Given the description of an element on the screen output the (x, y) to click on. 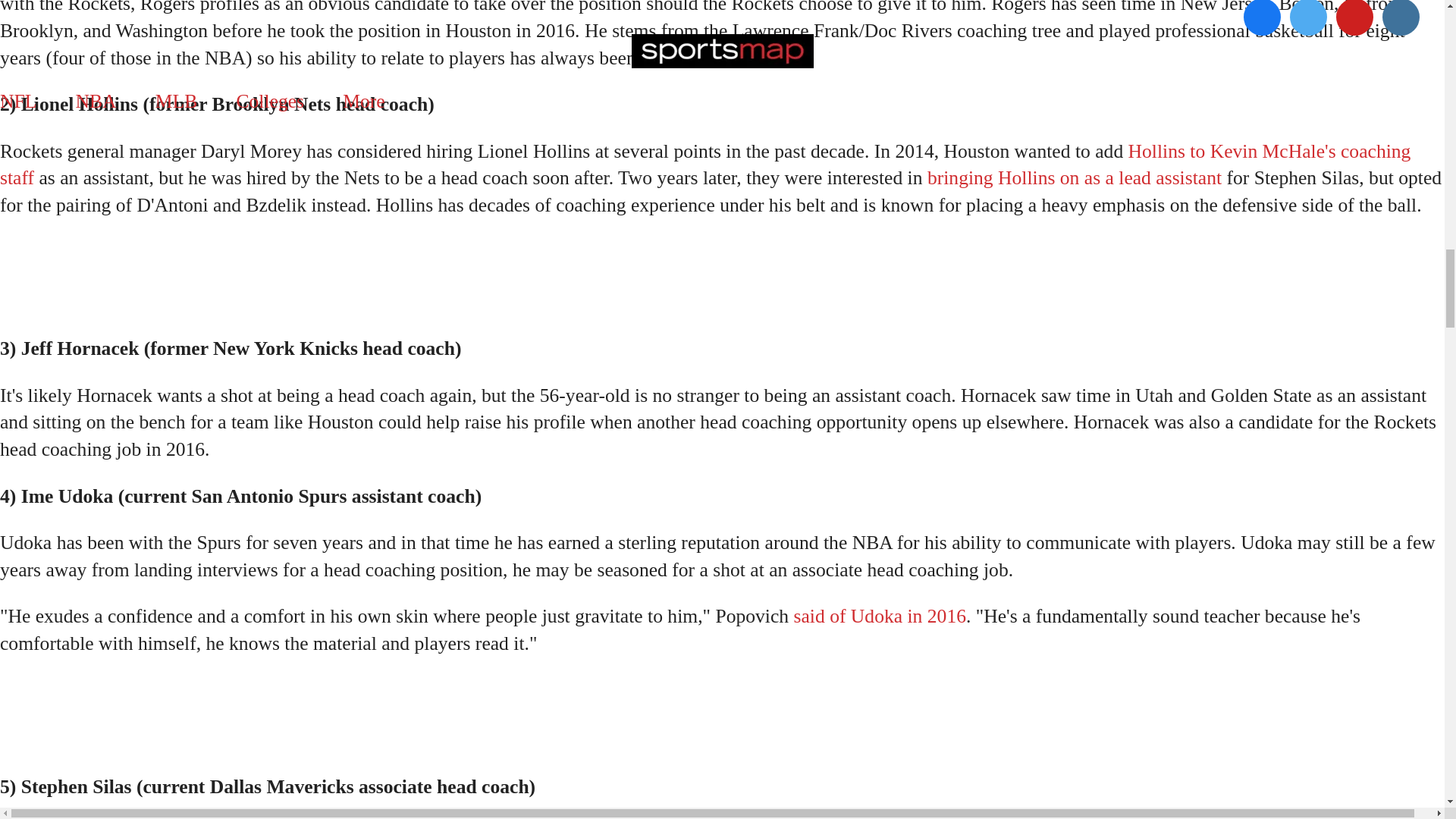
said of Udoka in 2016 (879, 616)
bringing Hollins on as a lead assistant (1074, 178)
Hollins to Kevin McHale's coaching staff (705, 164)
